Given the description of an element on the screen output the (x, y) to click on. 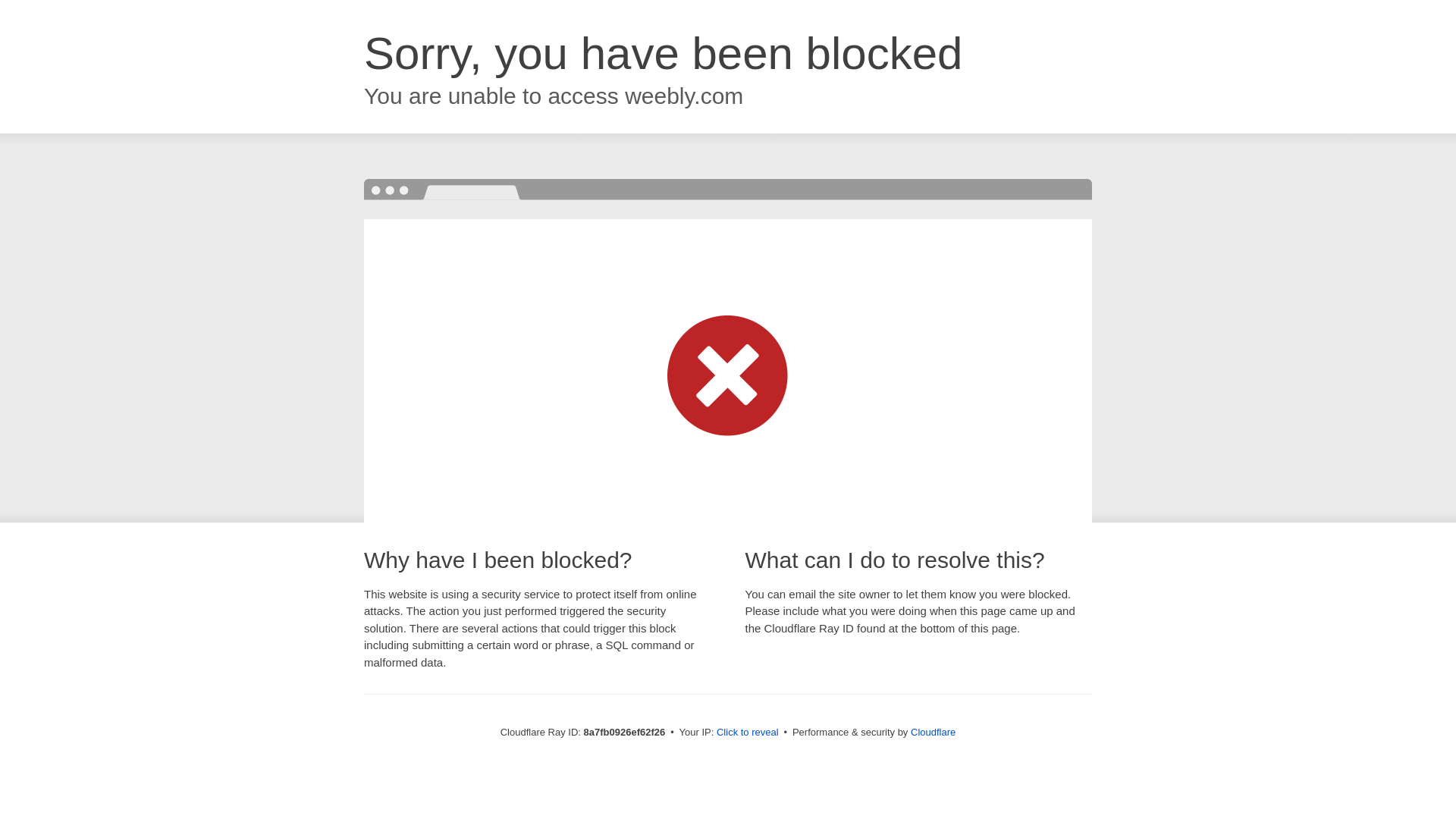
Cloudflare (933, 731)
Click to reveal (747, 732)
